Given the description of an element on the screen output the (x, y) to click on. 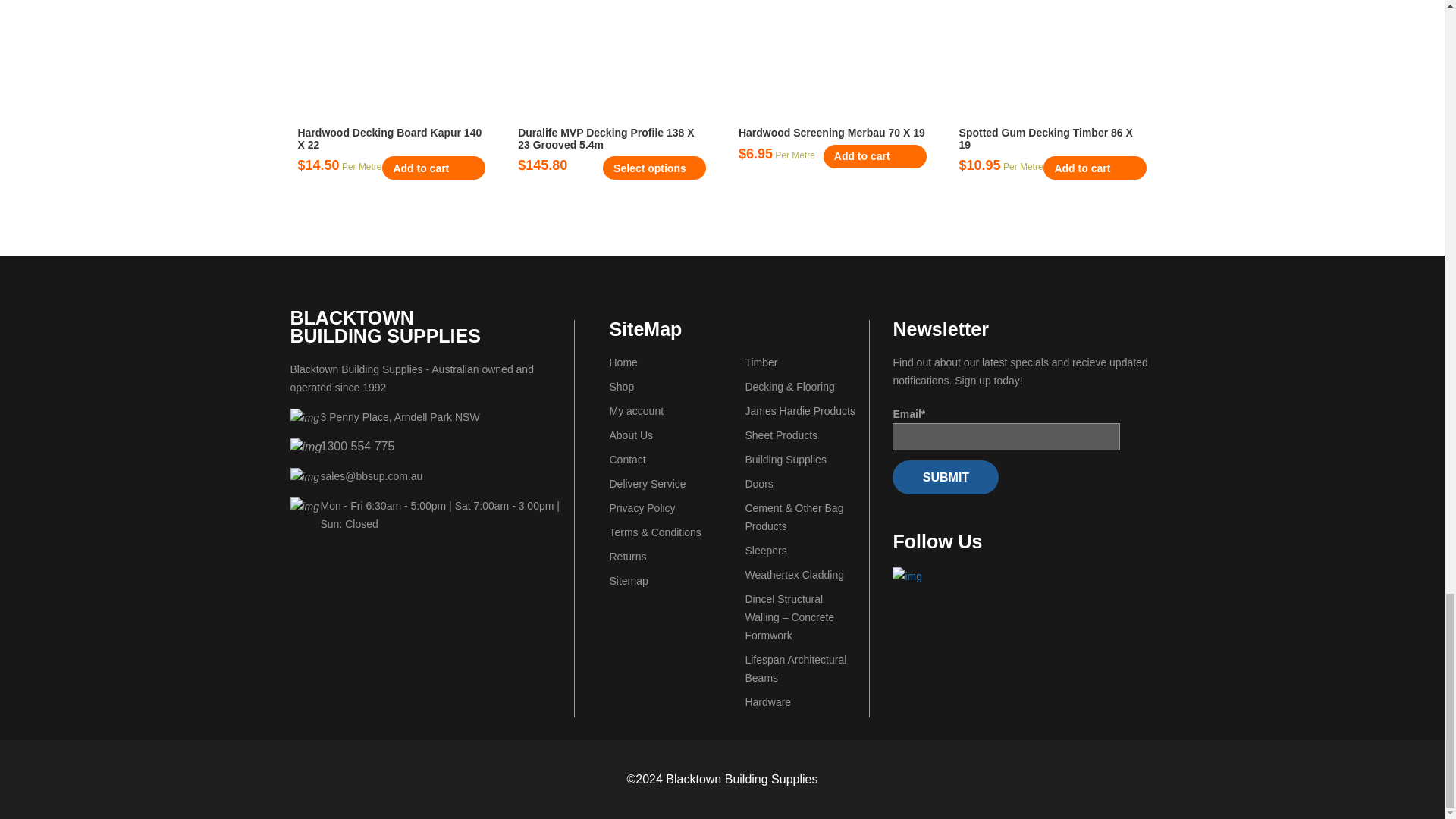
Submit (945, 477)
